Given the description of an element on the screen output the (x, y) to click on. 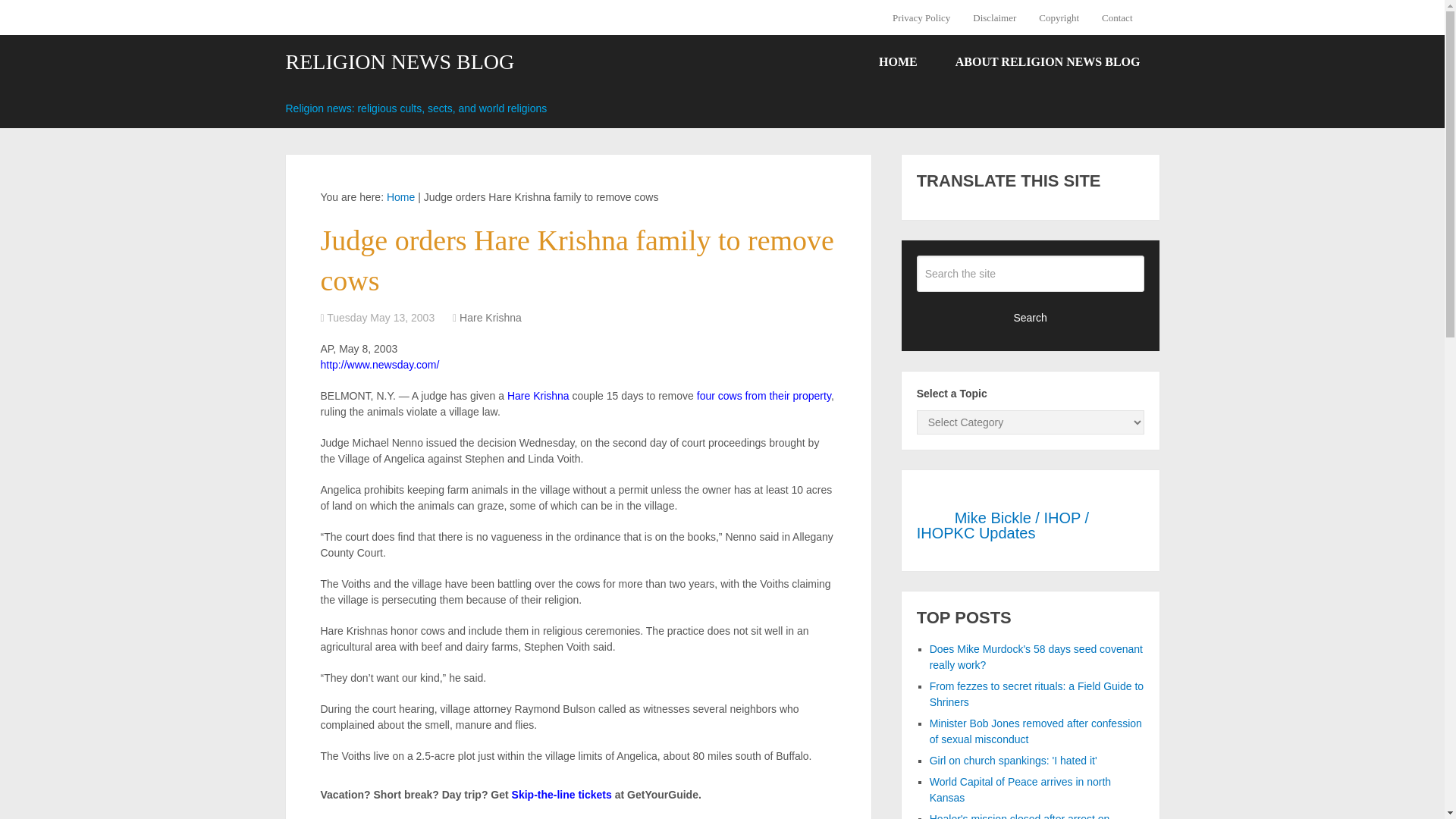
World Capital of Peace arrives in north Kansas (1020, 789)
Copyright (1058, 17)
Does Mike Murdock's 58 days seed covenant really work? (1036, 656)
Hare Krishna (490, 317)
Home (400, 196)
Privacy Policy (926, 17)
Contact (1116, 17)
Search (1030, 317)
From fezzes to secret rituals: a Field Guide to Shriners (1036, 694)
